Given the description of an element on the screen output the (x, y) to click on. 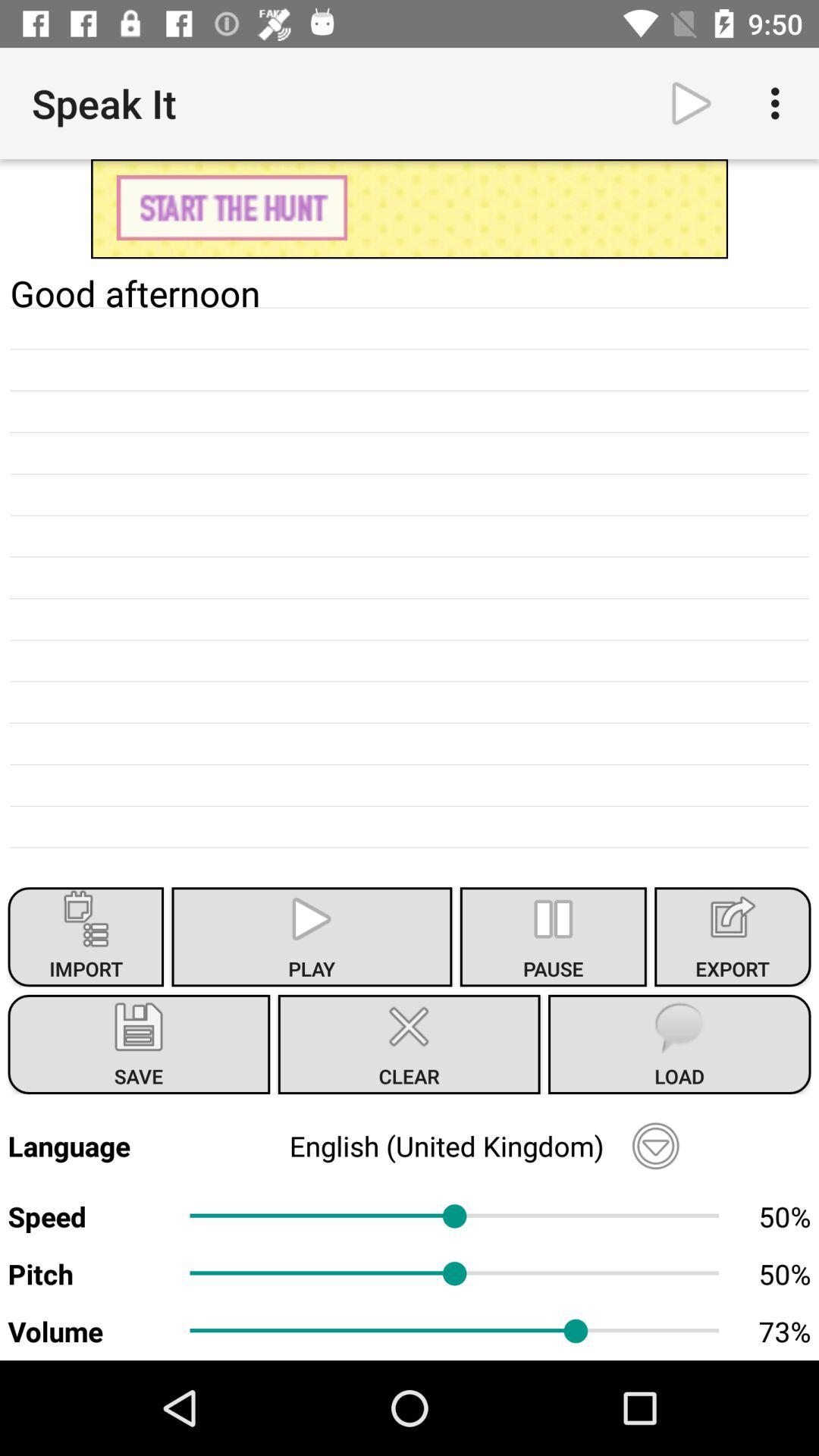
go to next arrow (691, 103)
